Given the description of an element on the screen output the (x, y) to click on. 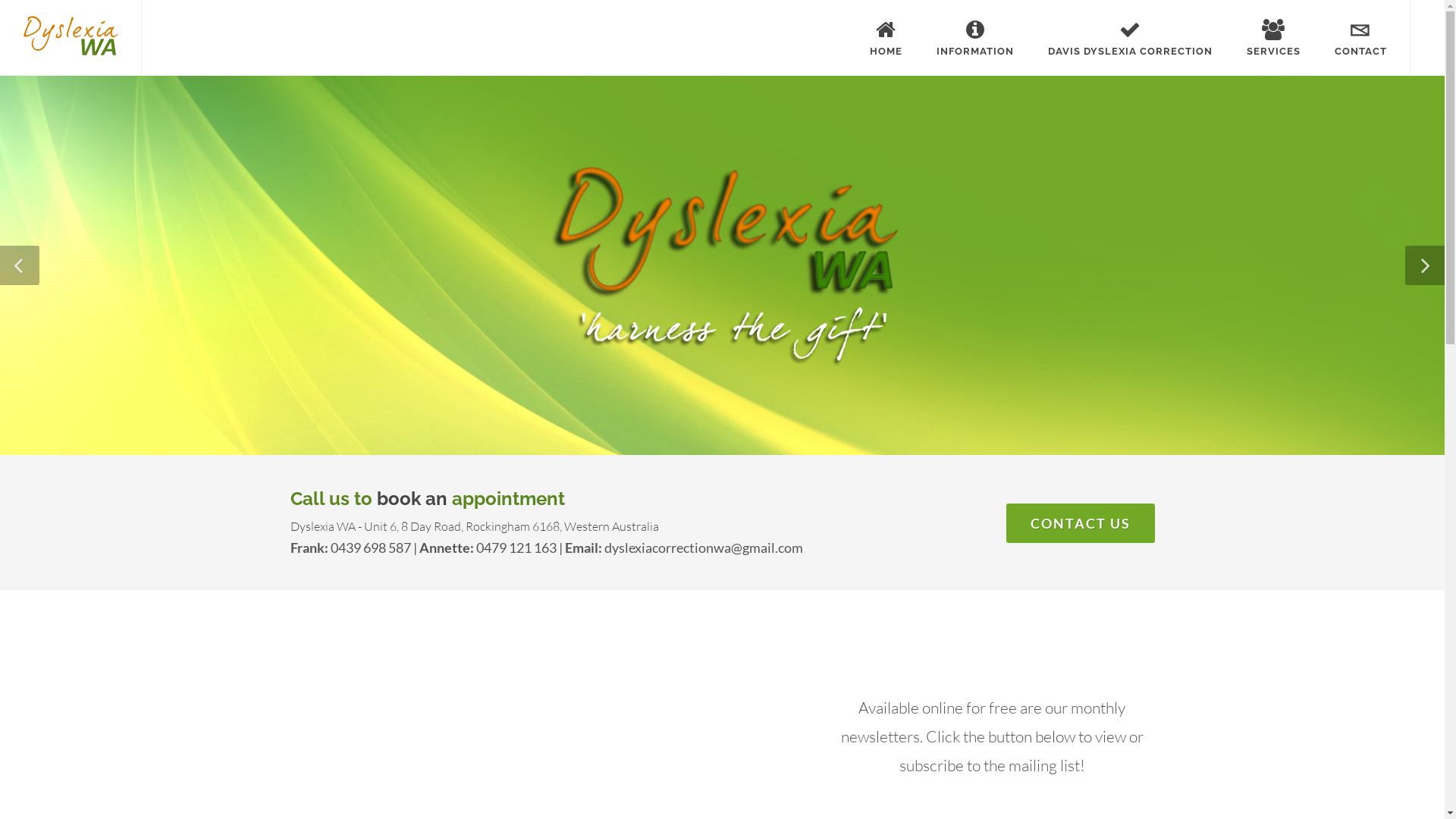
CONTACT US Element type: text (1079, 522)
SERVICES Element type: text (1273, 37)
CONTACT Element type: text (1360, 37)
INFORMATION Element type: text (975, 37)
DAVIS DYSLEXIA CORRECTION Element type: text (1129, 37)
HOME Element type: text (885, 37)
